Given the description of an element on the screen output the (x, y) to click on. 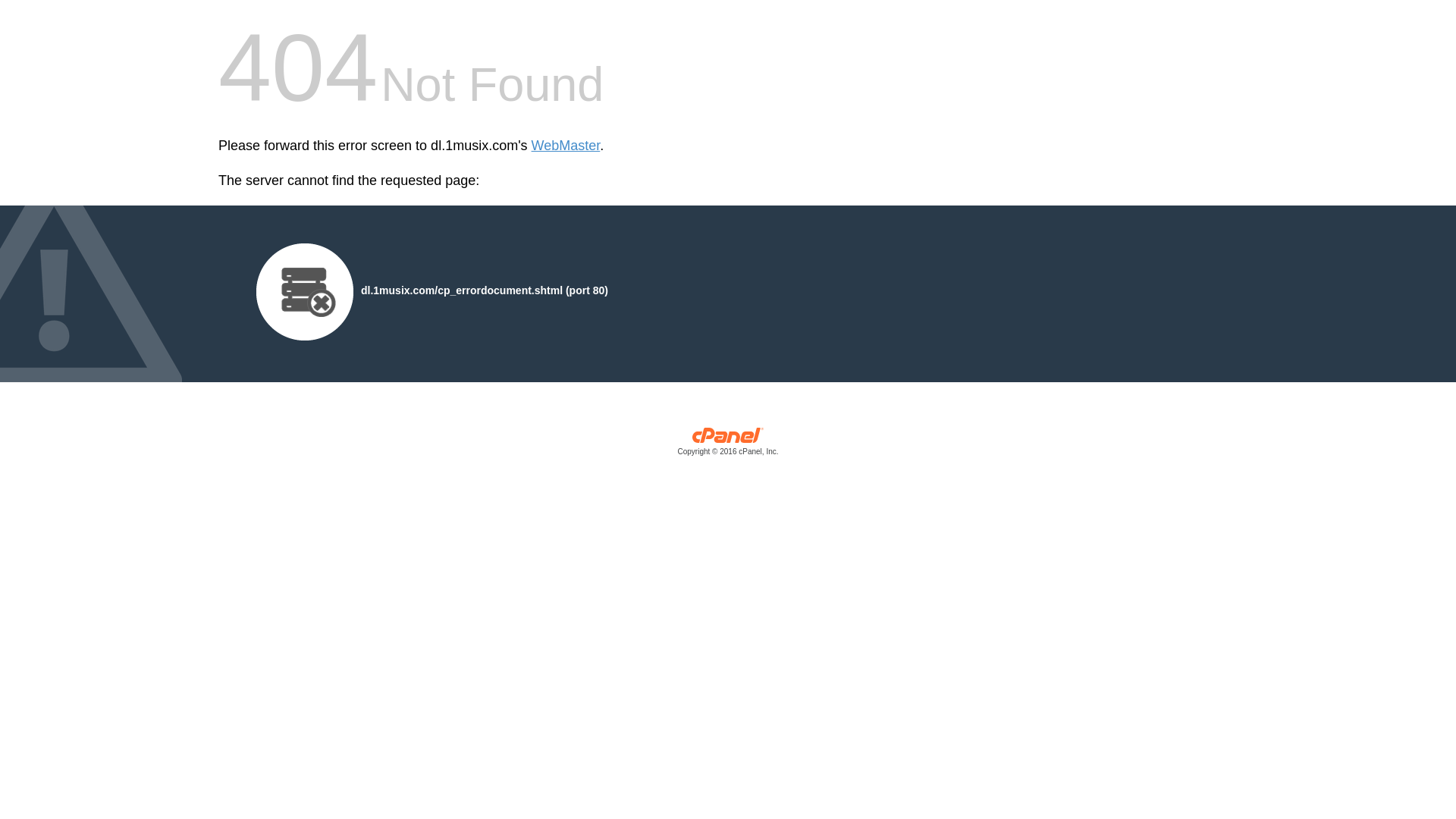
WebMaster Element type: text (565, 145)
